Given the description of an element on the screen output the (x, y) to click on. 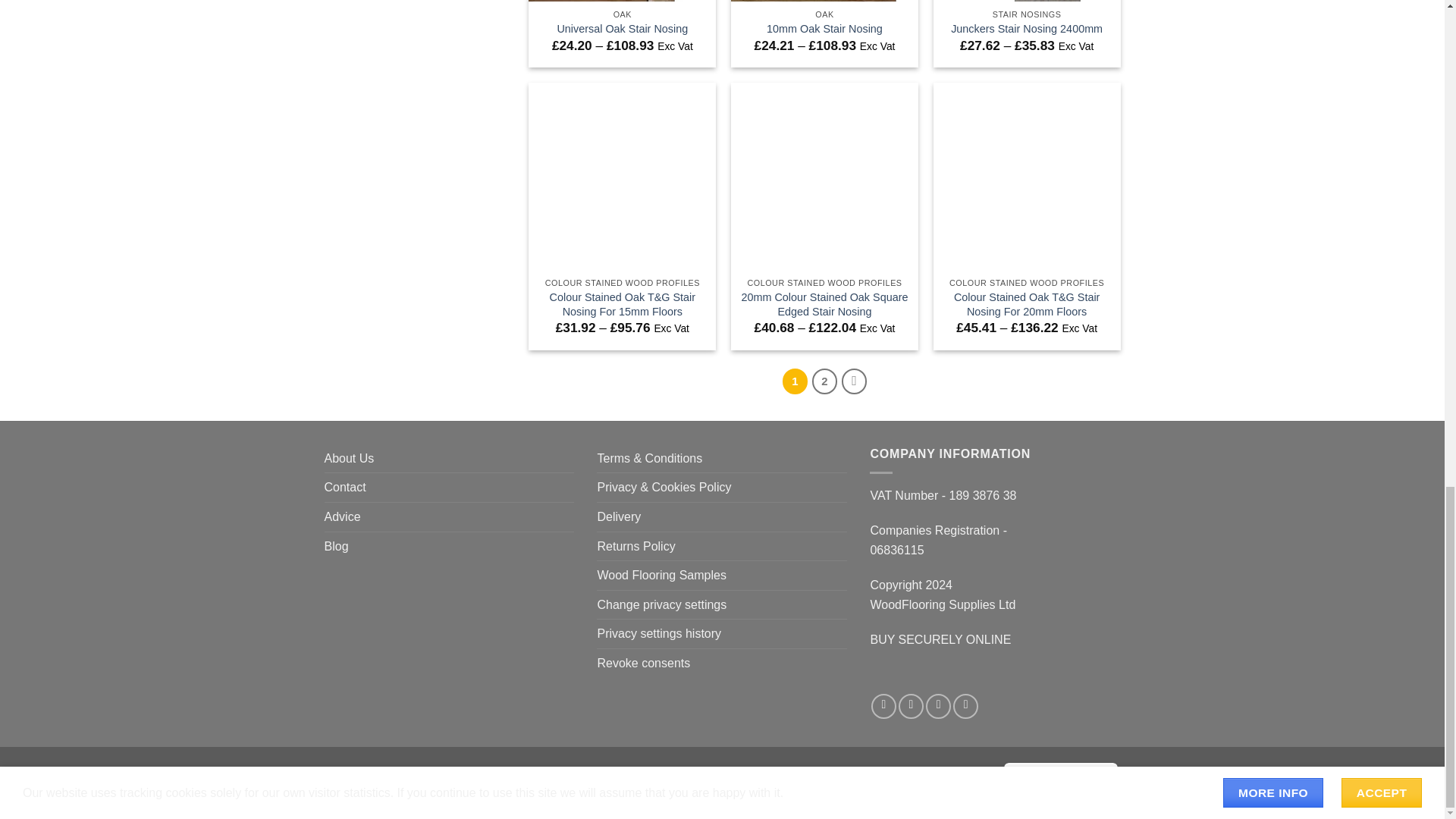
Pin on Pinterest (938, 706)
Share on Facebook (883, 706)
Share on LinkedIn (965, 706)
Share on Twitter (910, 706)
